Given the description of an element on the screen output the (x, y) to click on. 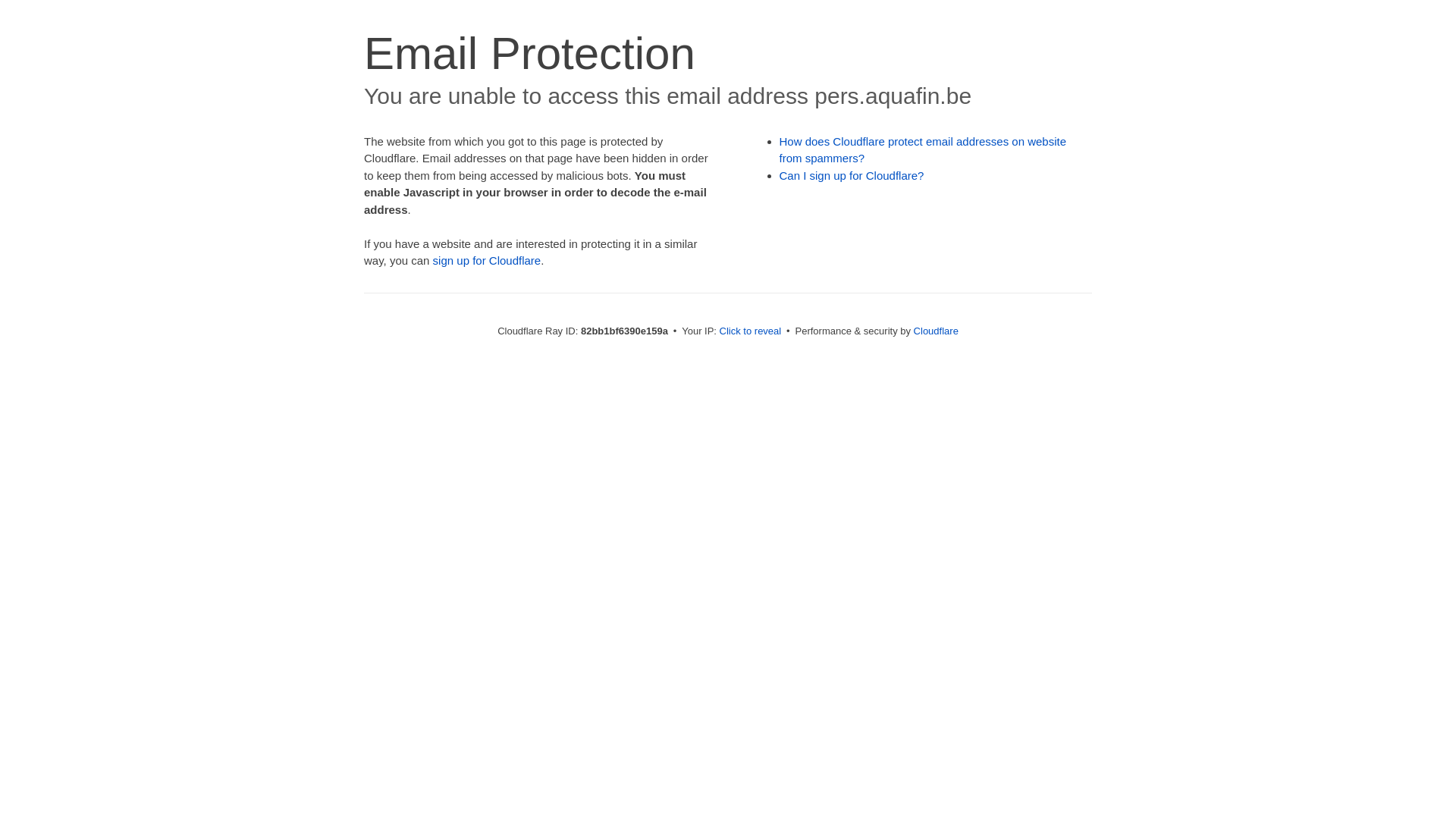
Click to reveal Element type: text (750, 330)
sign up for Cloudflare Element type: text (487, 260)
Can I sign up for Cloudflare? Element type: text (851, 175)
Cloudflare Element type: text (935, 330)
